Given the description of an element on the screen output the (x, y) to click on. 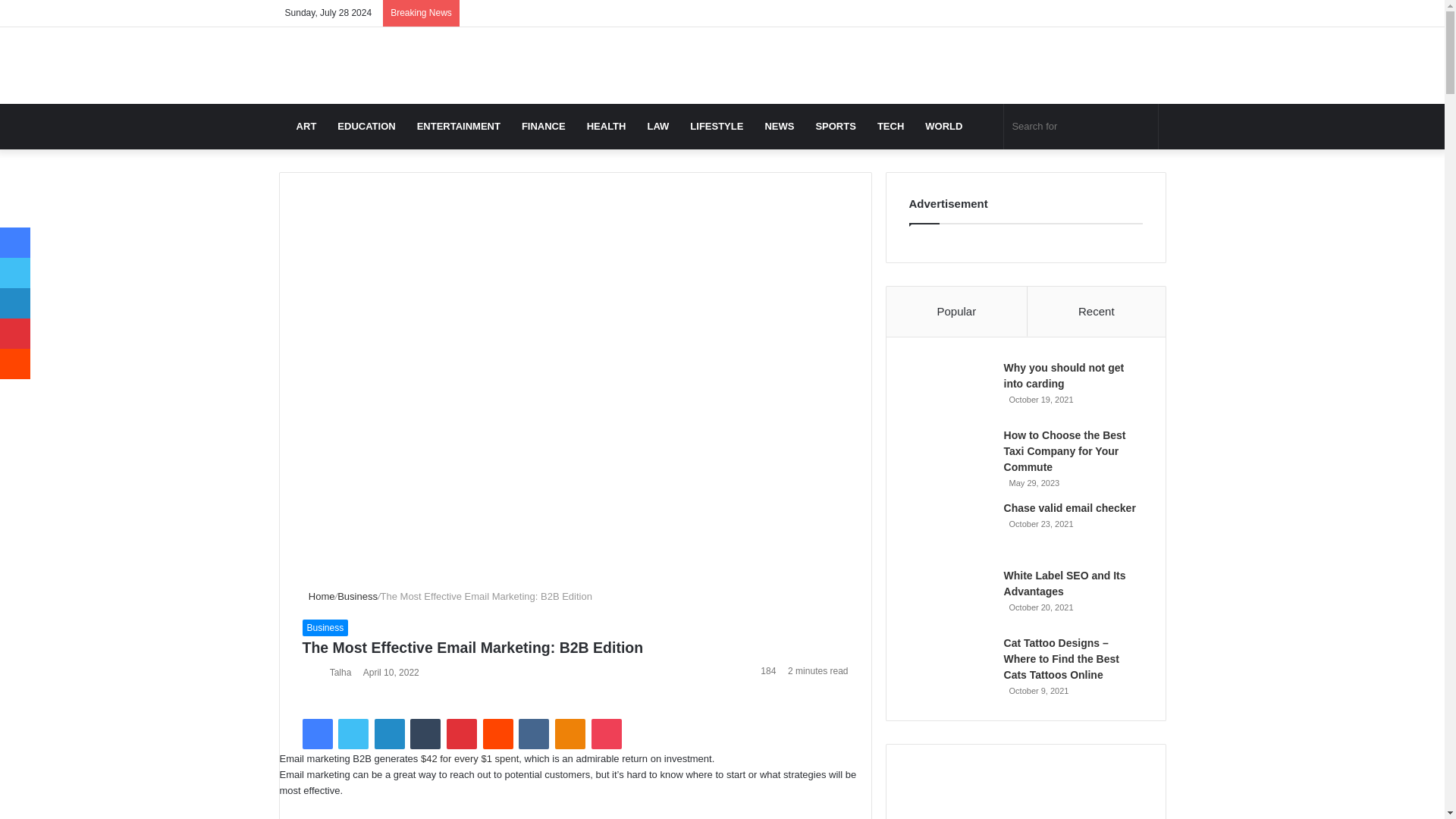
ENTERTAINMENT (458, 126)
Search for (1080, 126)
TECH (890, 126)
ART (306, 126)
Reddit (498, 734)
Facebook (316, 734)
Talha (341, 672)
Business (357, 595)
Instagram (1086, 13)
Log In (1109, 13)
WORLD (943, 126)
Pinterest (461, 734)
YouTube (1063, 13)
Tumblr (425, 734)
NEWS (779, 126)
